Given the description of an element on the screen output the (x, y) to click on. 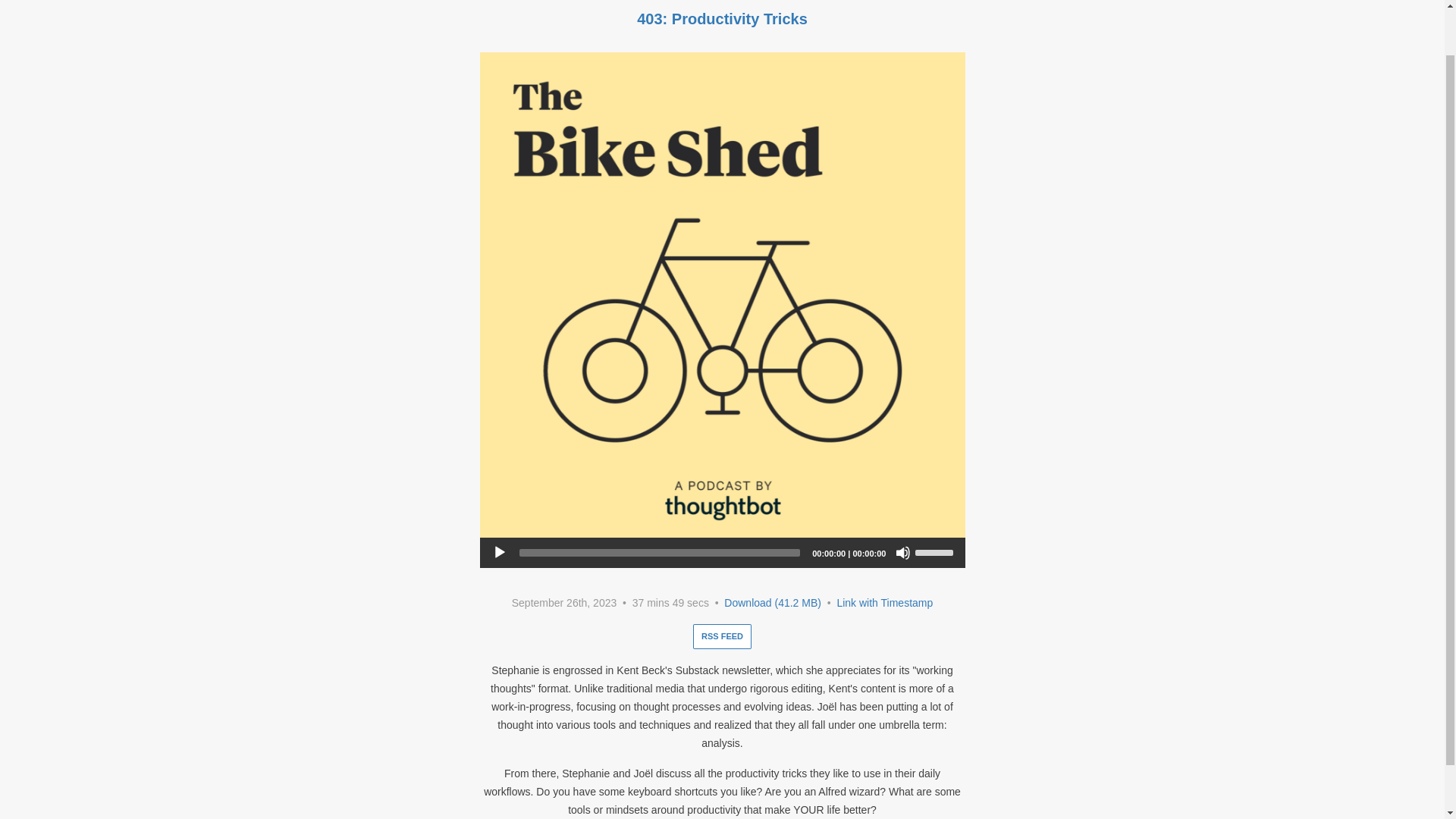
Mute (902, 552)
Play (499, 552)
403: Productivity Tricks (722, 18)
RSS FEED (722, 636)
Link with Timestamp (884, 603)
